Given the description of an element on the screen output the (x, y) to click on. 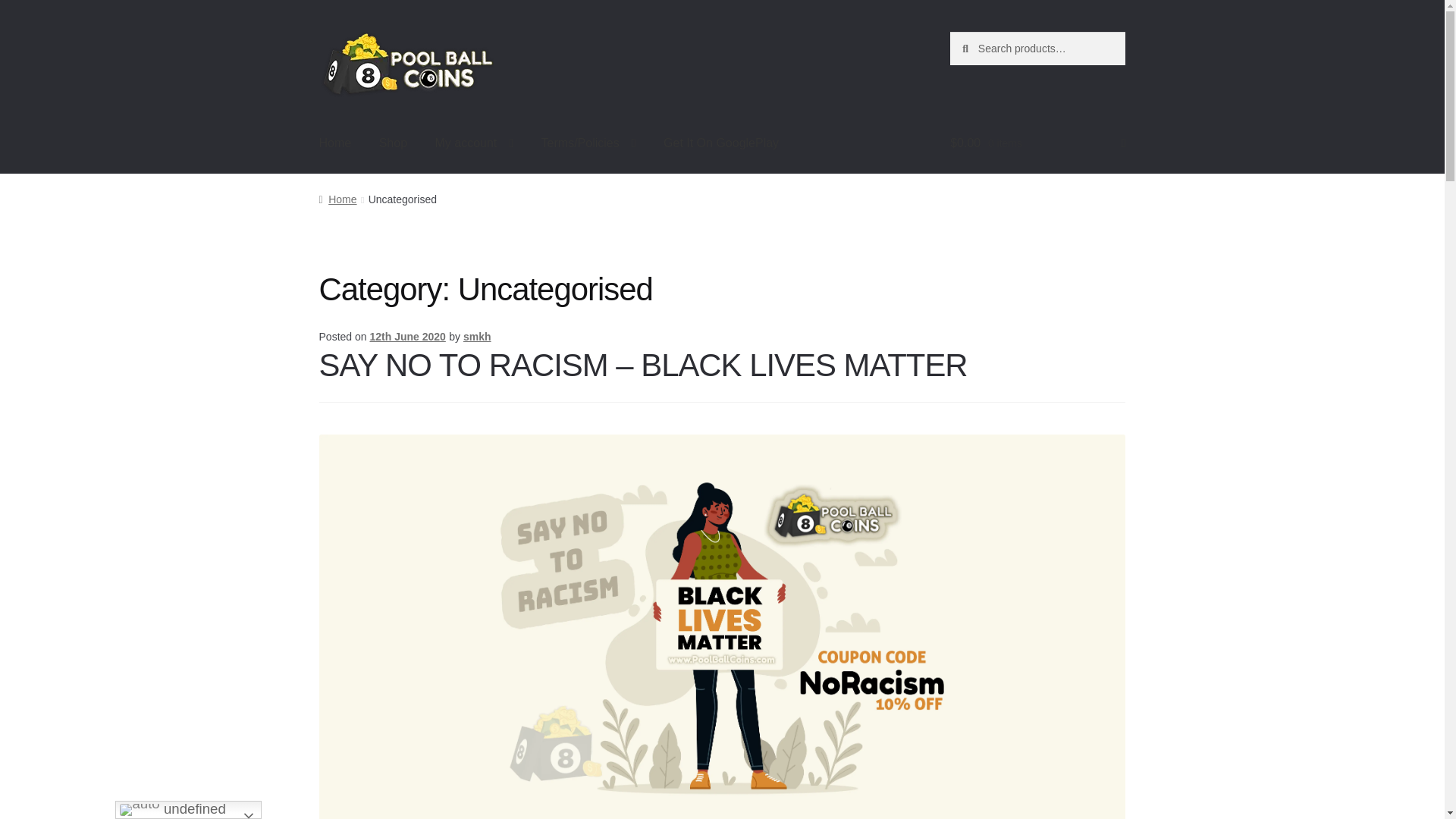
Home (337, 199)
Home (335, 143)
smkh (477, 336)
12th June 2020 (407, 336)
View your shopping basket (1037, 143)
Get It On GooglePlay (720, 143)
My account (473, 143)
Shop (392, 143)
